Given the description of an element on the screen output the (x, y) to click on. 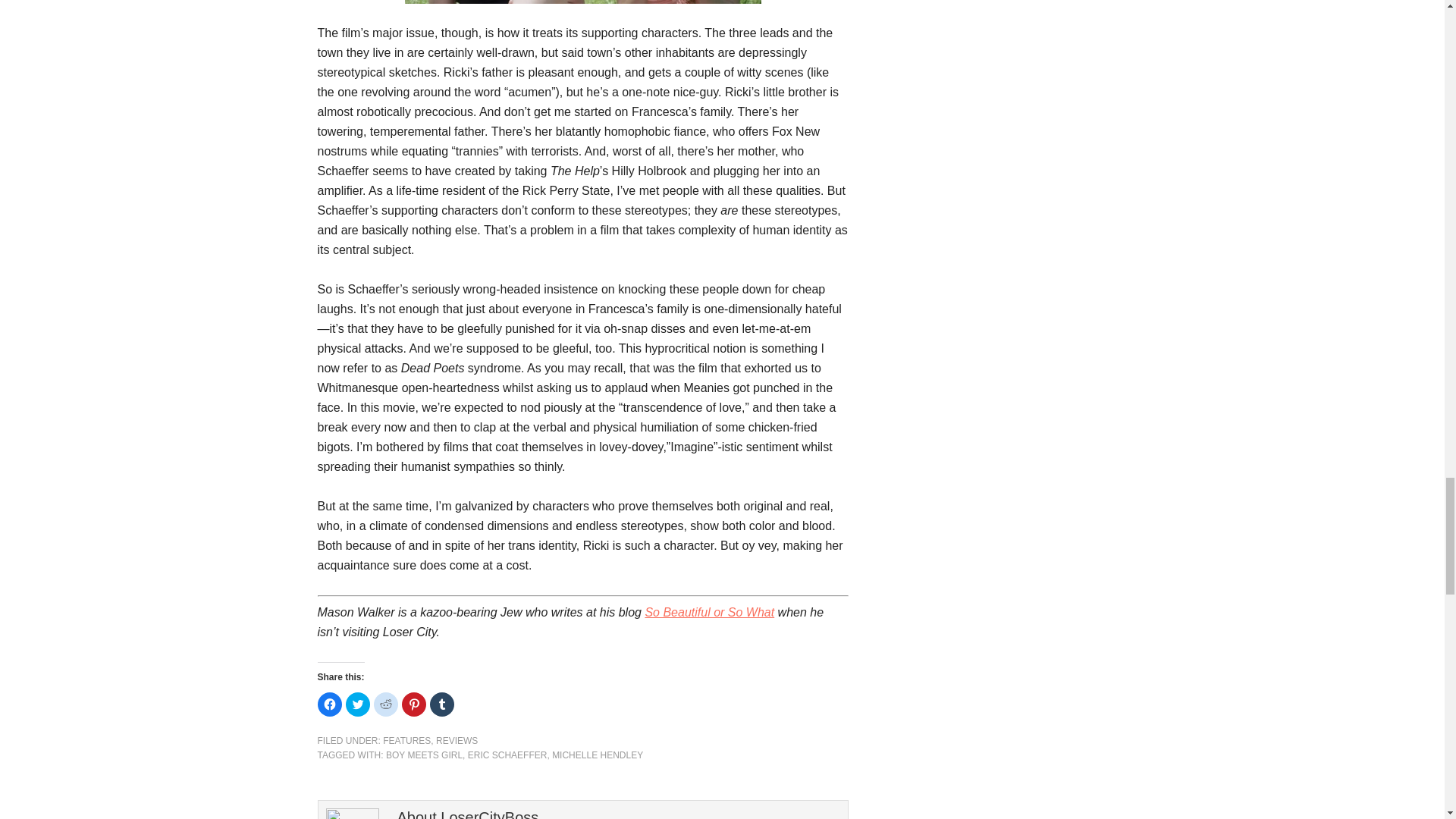
REVIEWS (456, 740)
Click to share on Tumblr (440, 704)
BOY MEETS GIRL (424, 755)
Click to share on Facebook (328, 704)
ERIC SCHAEFFER (507, 755)
Click to share on Pinterest (413, 704)
Click to share on Twitter (357, 704)
MICHELLE HENDLEY (597, 755)
FEATURES (406, 740)
So Beautiful or So What (709, 612)
